Given the description of an element on the screen output the (x, y) to click on. 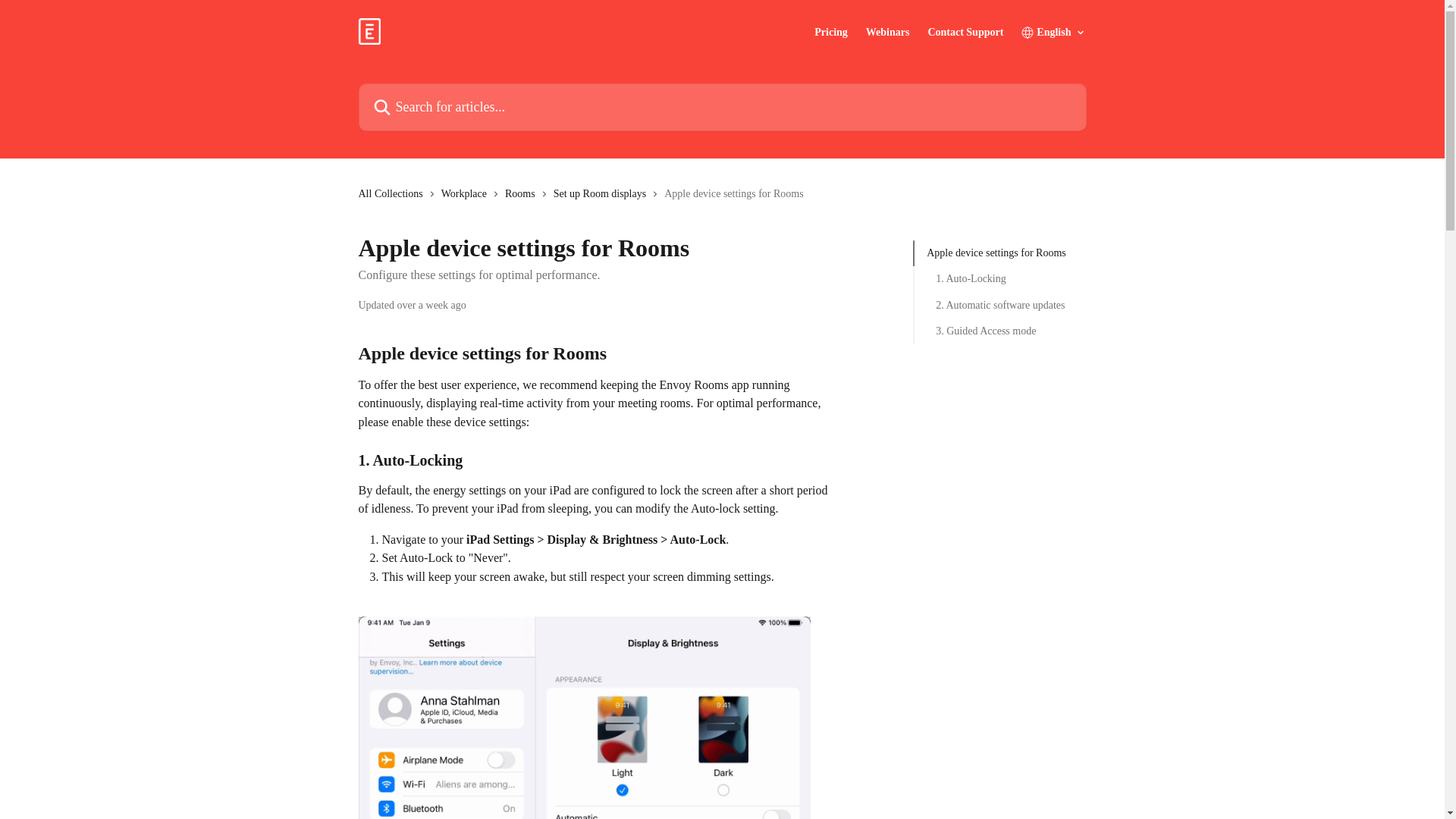
1. Auto-Locking (1000, 279)
Webinars (888, 32)
All Collections (393, 193)
2. Automatic software updates (1000, 305)
Pricing (830, 32)
Workplace (467, 193)
3. Guided Access mode (1000, 330)
Set up Room displays (602, 193)
Apple device settings for Rooms (1000, 252)
Rooms (523, 193)
